Given the description of an element on the screen output the (x, y) to click on. 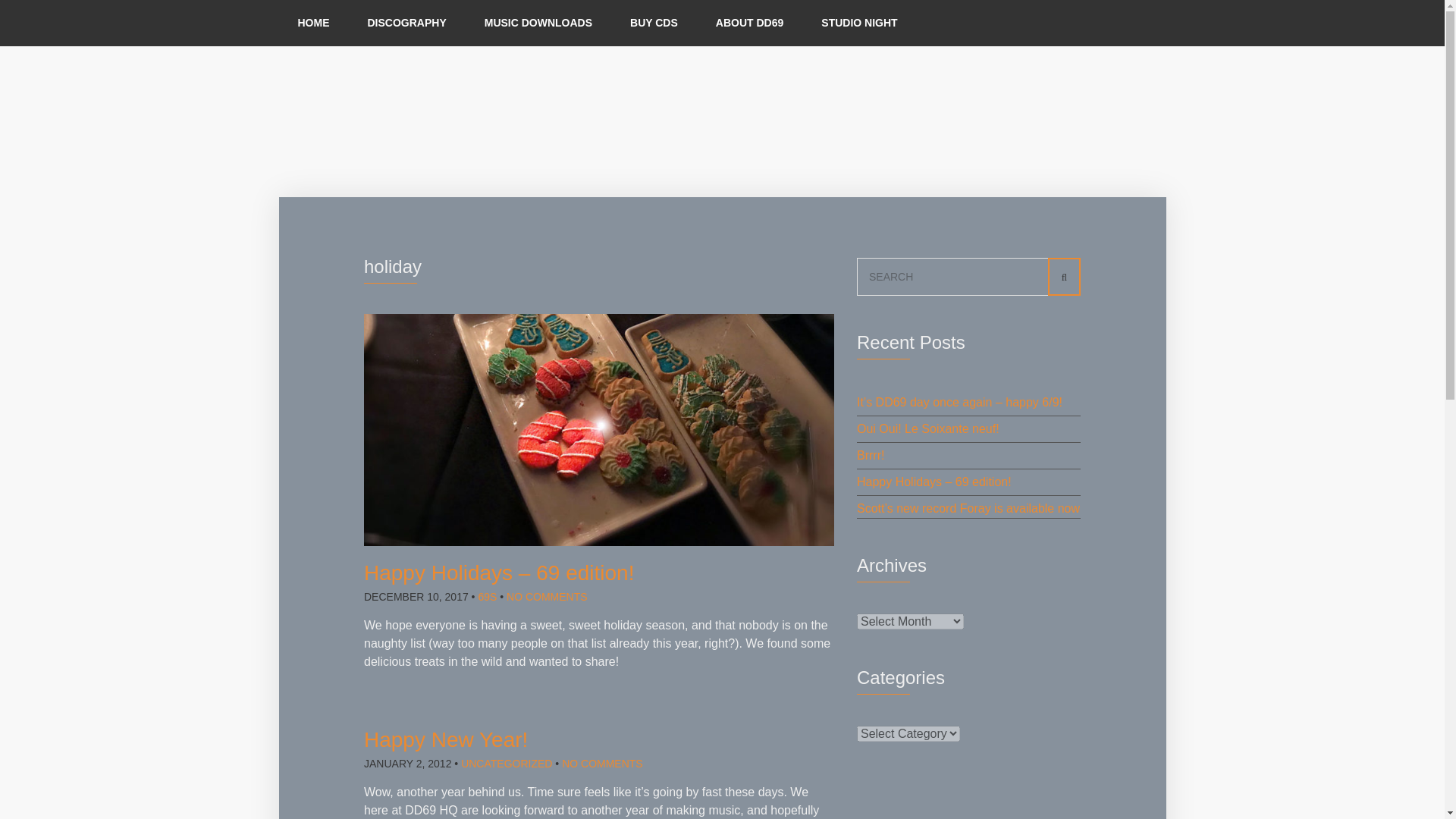
UNCATEGORIZED (506, 763)
69S (486, 596)
DISCOGRAPHY (407, 22)
STUDIO NIGHT (858, 22)
Oui Oui! Le Soixante neuf! (927, 428)
NO COMMENTS (602, 763)
BUY CDS (654, 22)
Happy New Year! (445, 739)
NO COMMENTS (547, 596)
ABOUT DD69 (749, 22)
MUSIC DOWNLOADS (538, 22)
HOME (314, 22)
